Given the description of an element on the screen output the (x, y) to click on. 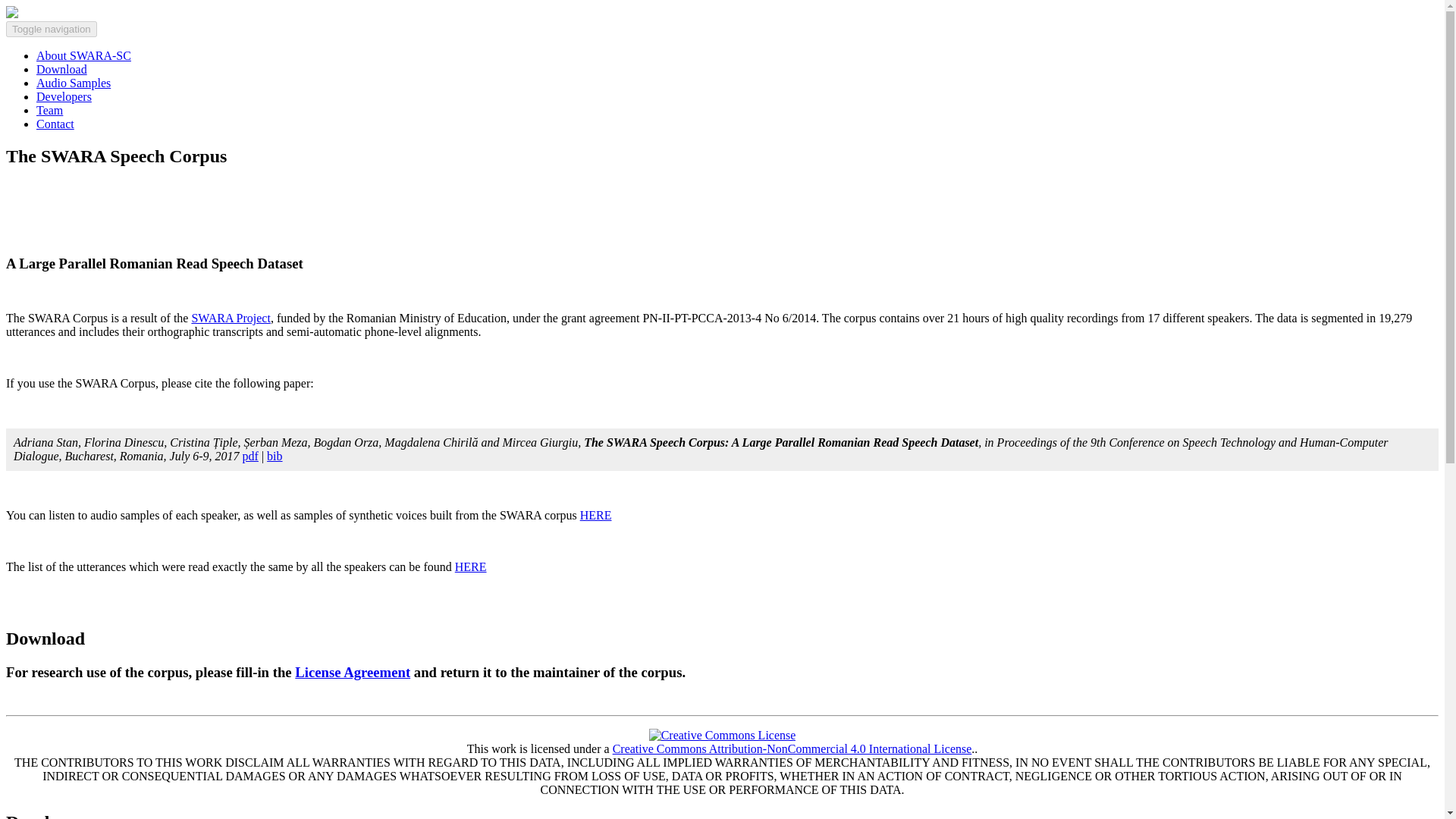
Contact (55, 123)
About SWARA-SC (83, 55)
SWARA Project (229, 318)
Developers (63, 96)
HERE (470, 566)
Download (61, 69)
bib (274, 455)
About SWARA-SC (83, 55)
pdf (251, 455)
HERE (595, 514)
Audio Samples (73, 82)
Team (49, 110)
Toggle navigation (51, 28)
Developers (63, 96)
